Given the description of an element on the screen output the (x, y) to click on. 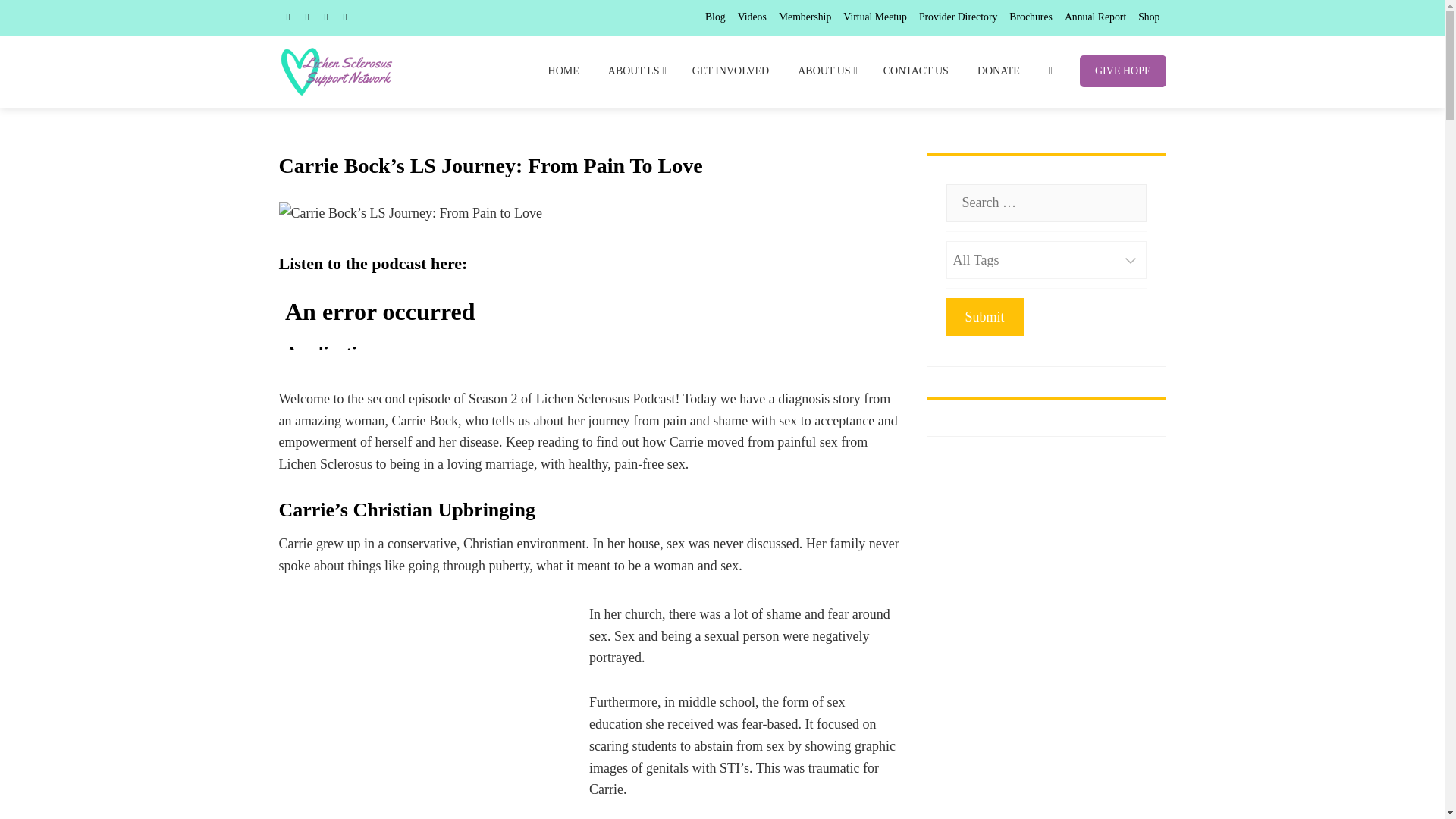
Submit (984, 316)
DONATE (998, 70)
Brochures (1030, 16)
Provider Directory (957, 16)
Membership (804, 16)
ABOUT LS (635, 70)
GET INVOLVED (730, 70)
GIVE HOPE (1123, 70)
HOME (563, 70)
Annual Report (1094, 16)
